Given the description of an element on the screen output the (x, y) to click on. 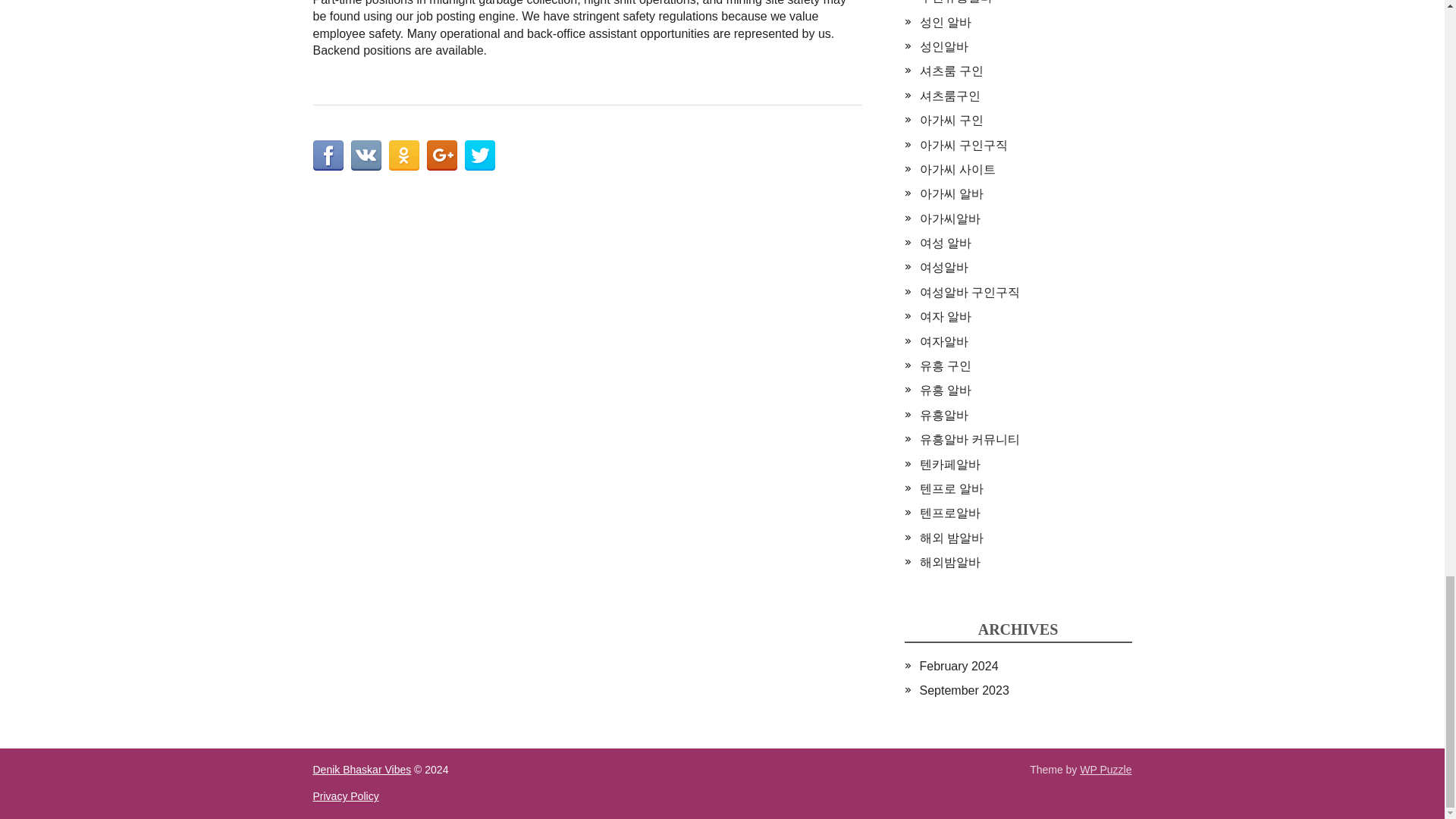
Share in OK (403, 155)
Share in Facebook (327, 155)
Share in Twitter (479, 155)
Share in VK (365, 155)
